Given the description of an element on the screen output the (x, y) to click on. 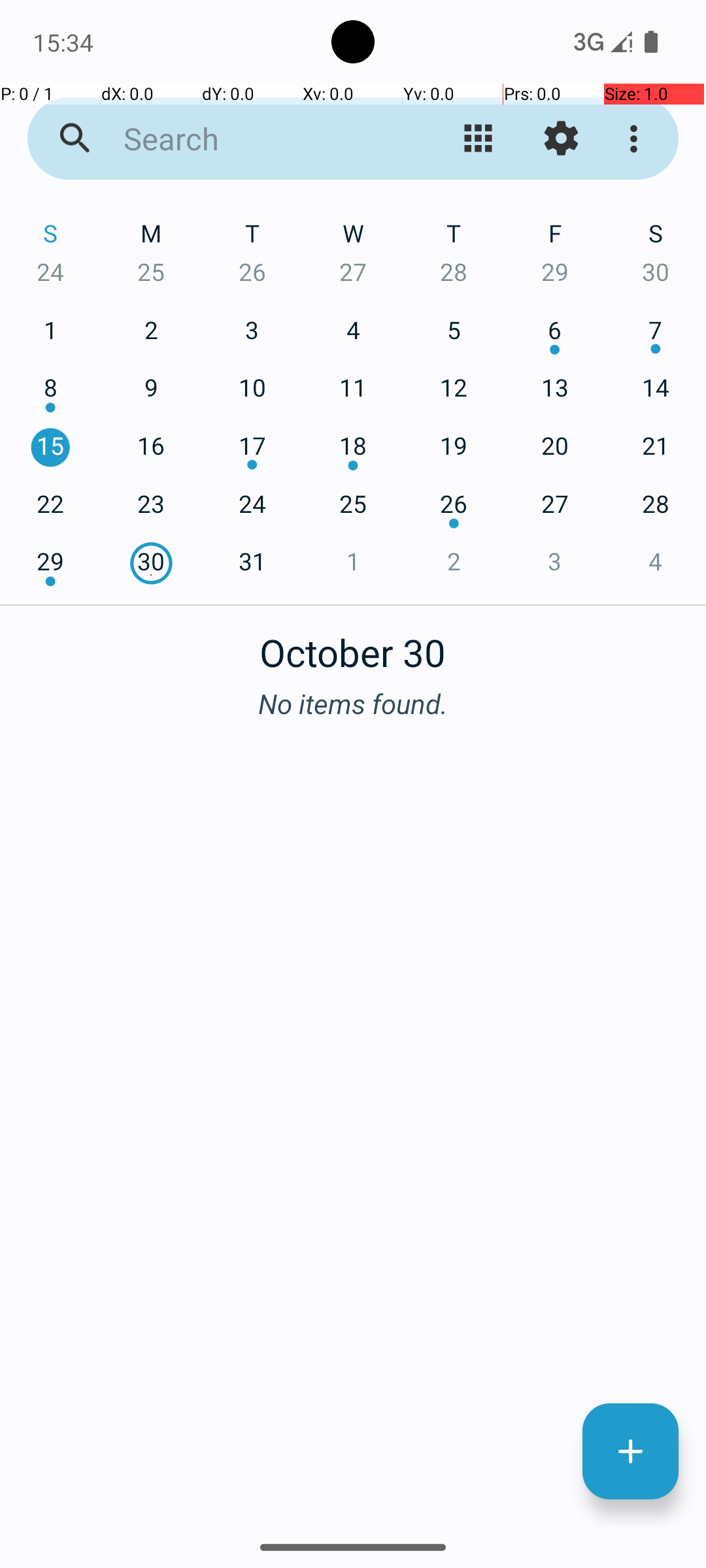
Change view Element type: android.widget.Button (477, 138)
New Event Element type: android.widget.ImageButton (630, 1451)
October 30 Element type: android.widget.TextView (352, 644)
